Given the description of an element on the screen output the (x, y) to click on. 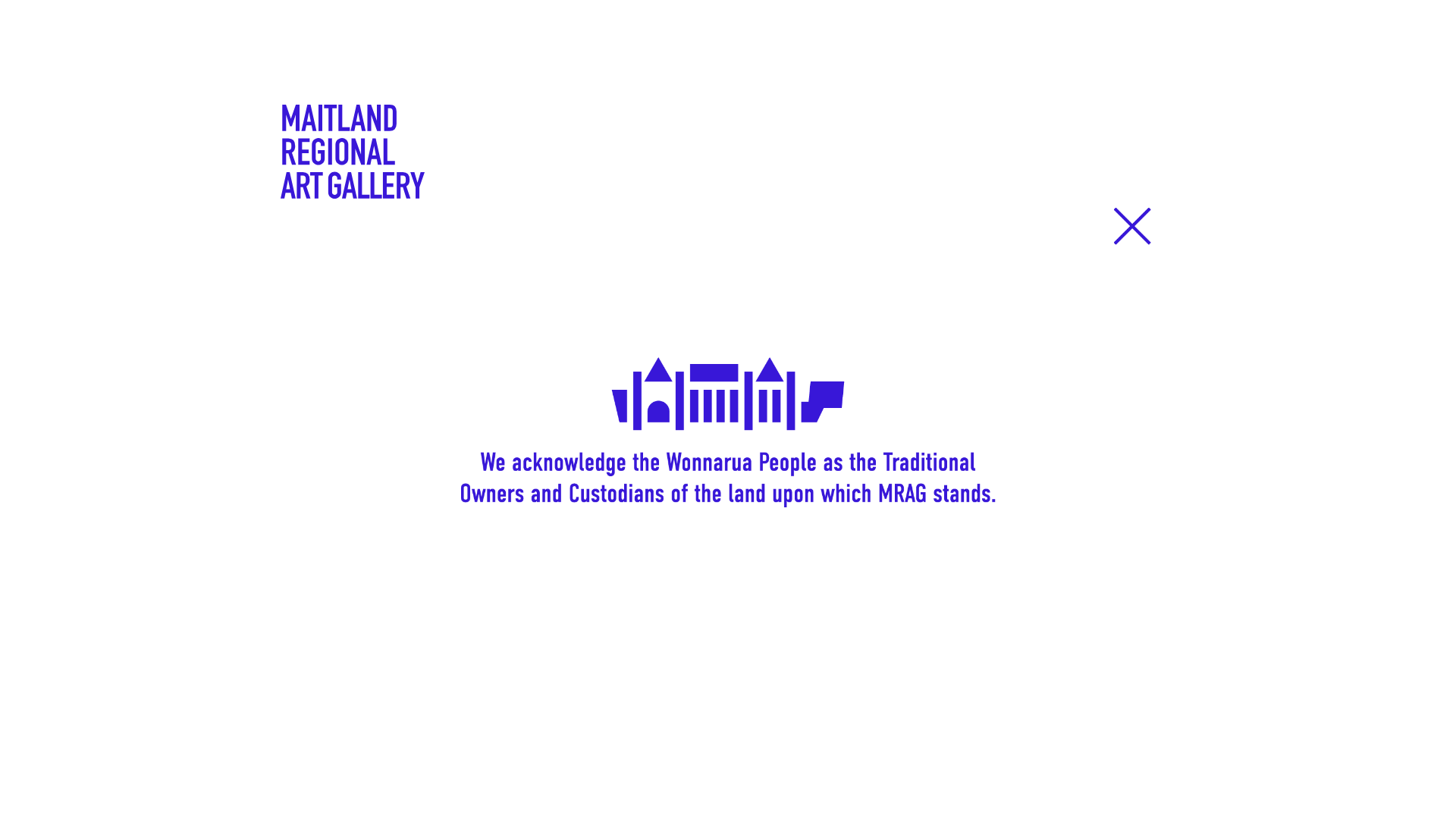
Calendar Element type: text (313, 298)
Subscribe + Element type: text (996, 756)
Gallery News Element type: text (330, 420)
Collection Element type: text (843, 191)
About Element type: text (1153, 191)
Support Us Element type: text (1059, 191)
Art From Home Element type: text (337, 359)
Education Element type: text (949, 191)
Art Videos Element type: text (318, 389)
Visit Us Element type: text (746, 191)
PERFORMANCE BY GISELLE STANBOROUGH
Read + Element type: text (272, 550)
JOURNEYS CREATIVE CONNECTIONS DATES 2023
Read + Element type: text (727, 550)
Programs Element type: text (316, 329)
Exhibitions Element type: text (540, 191)
